Given the description of an element on the screen output the (x, y) to click on. 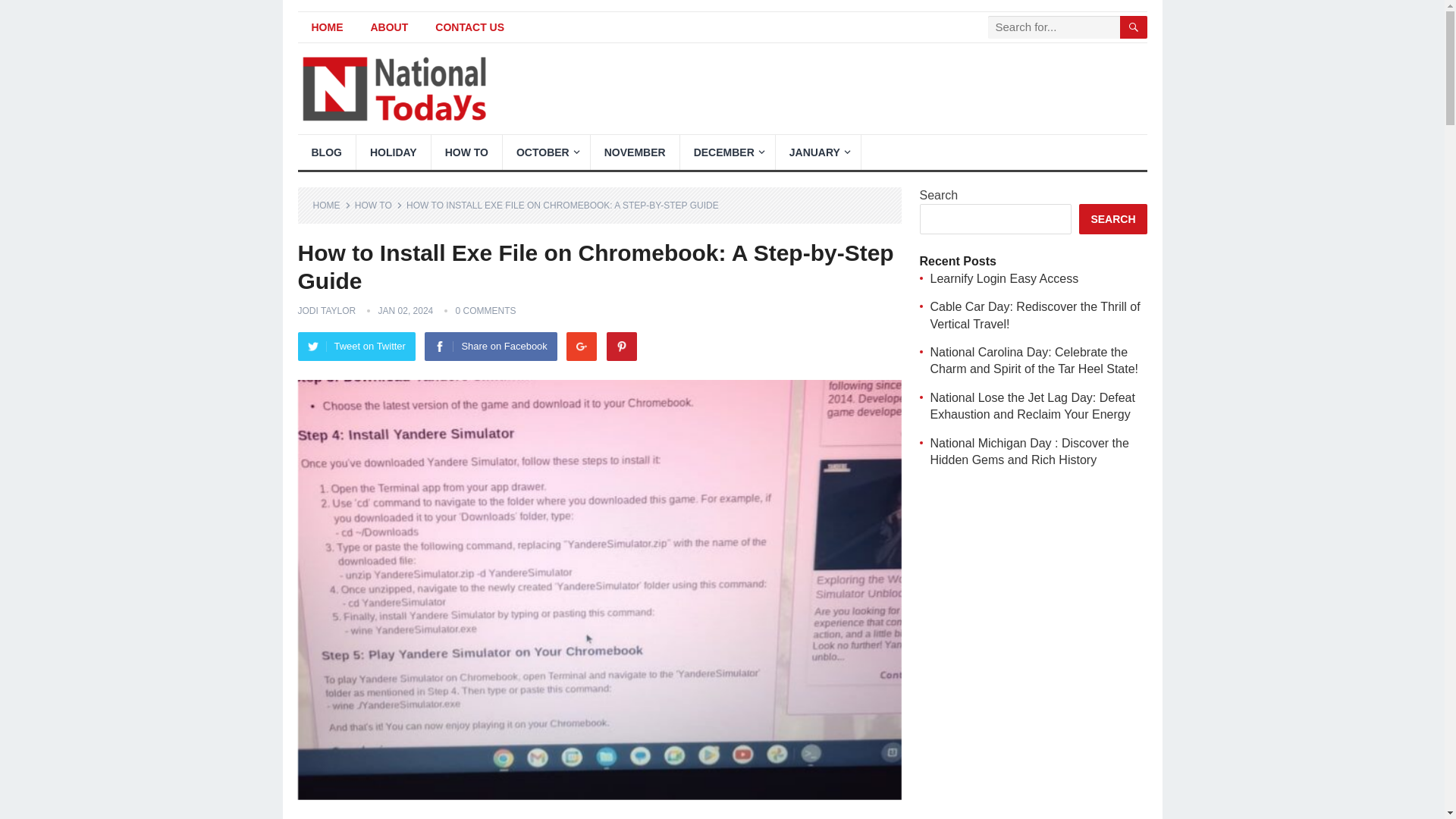
HOME (326, 27)
View all posts in How to (379, 204)
DECEMBER (726, 152)
ABOUT (389, 27)
HOLIDAY (393, 152)
NOVEMBER (635, 152)
CONTACT US (470, 27)
BLOG (326, 152)
OCTOBER (545, 152)
HOW TO (466, 152)
